Given the description of an element on the screen output the (x, y) to click on. 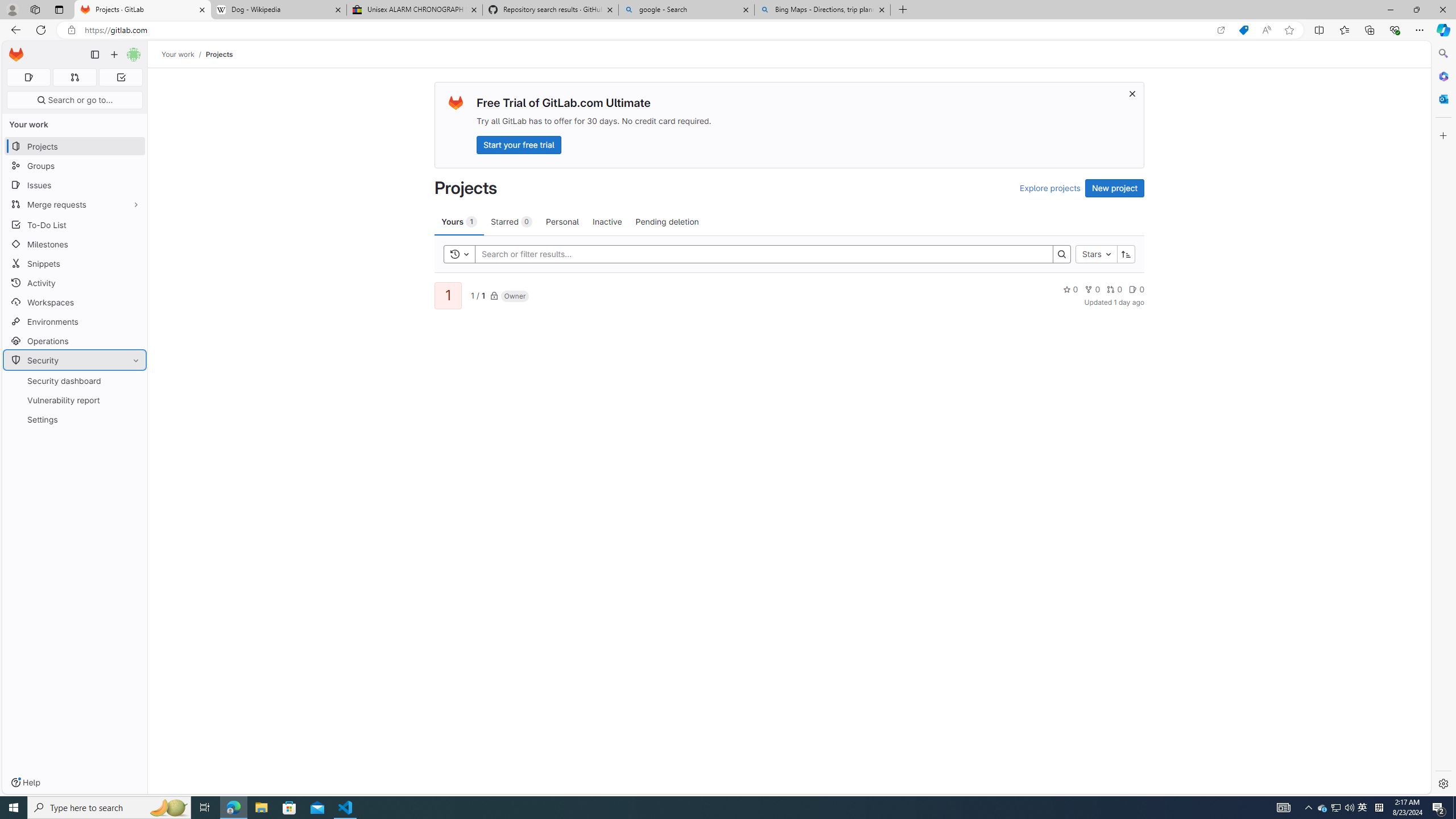
1 / 1 (477, 294)
Yours 1 (458, 221)
Milestones (74, 244)
Open in app (1220, 29)
Milestones (74, 244)
